Given the description of an element on the screen output the (x, y) to click on. 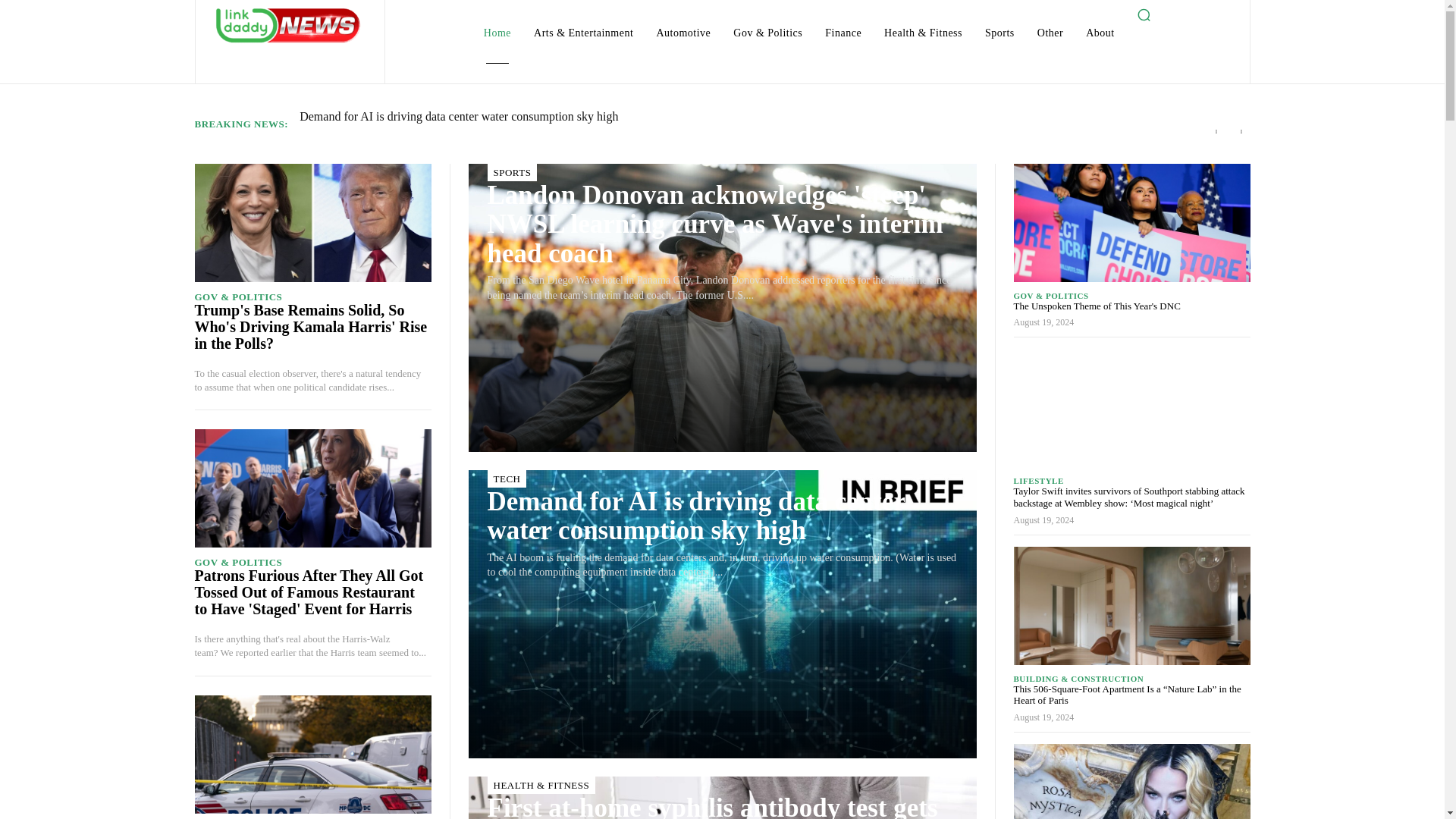
Automotive (682, 33)
LinkDaddy News (287, 24)
